Given the description of an element on the screen output the (x, y) to click on. 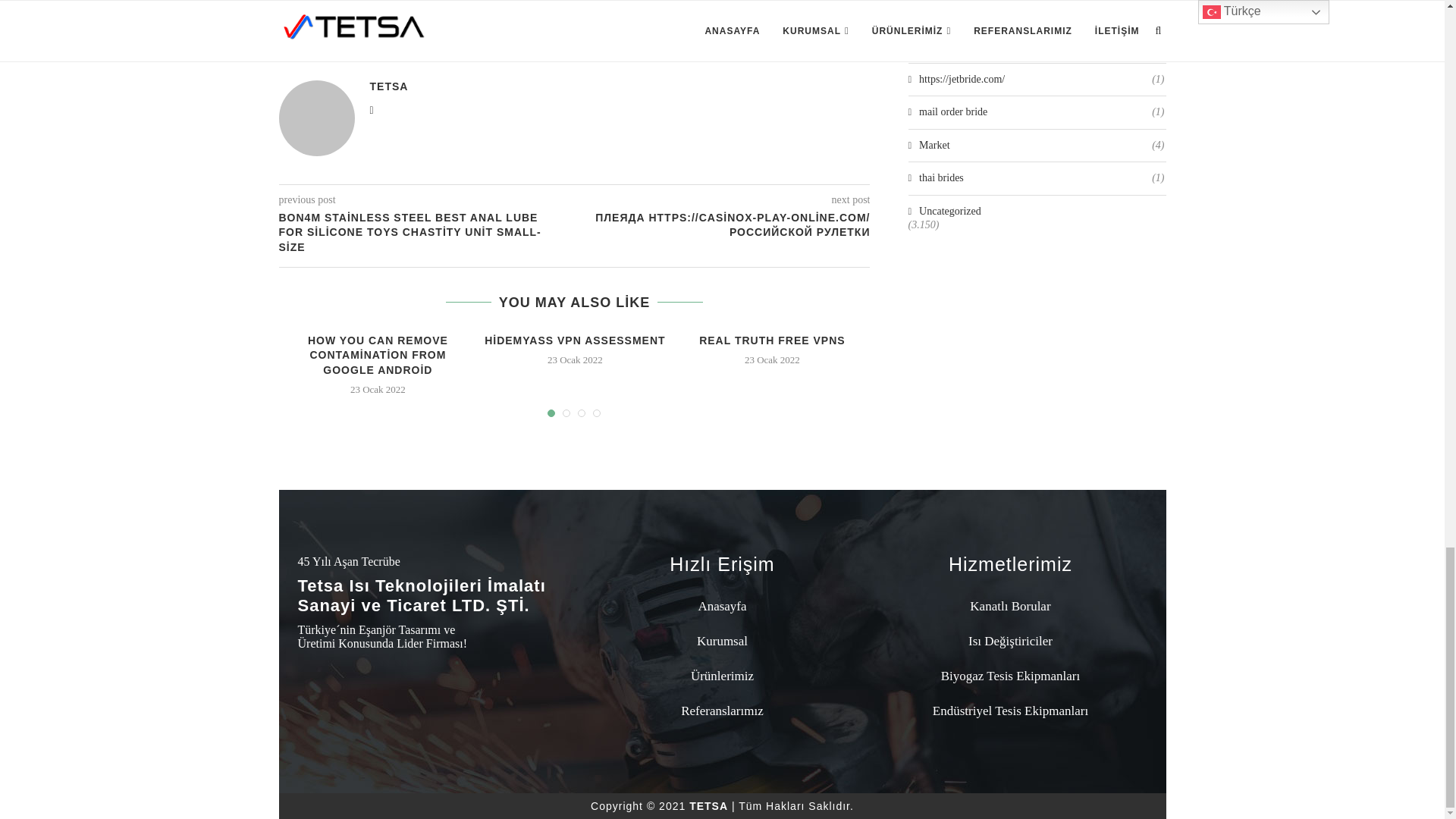
Like (597, 33)
